Given the description of an element on the screen output the (x, y) to click on. 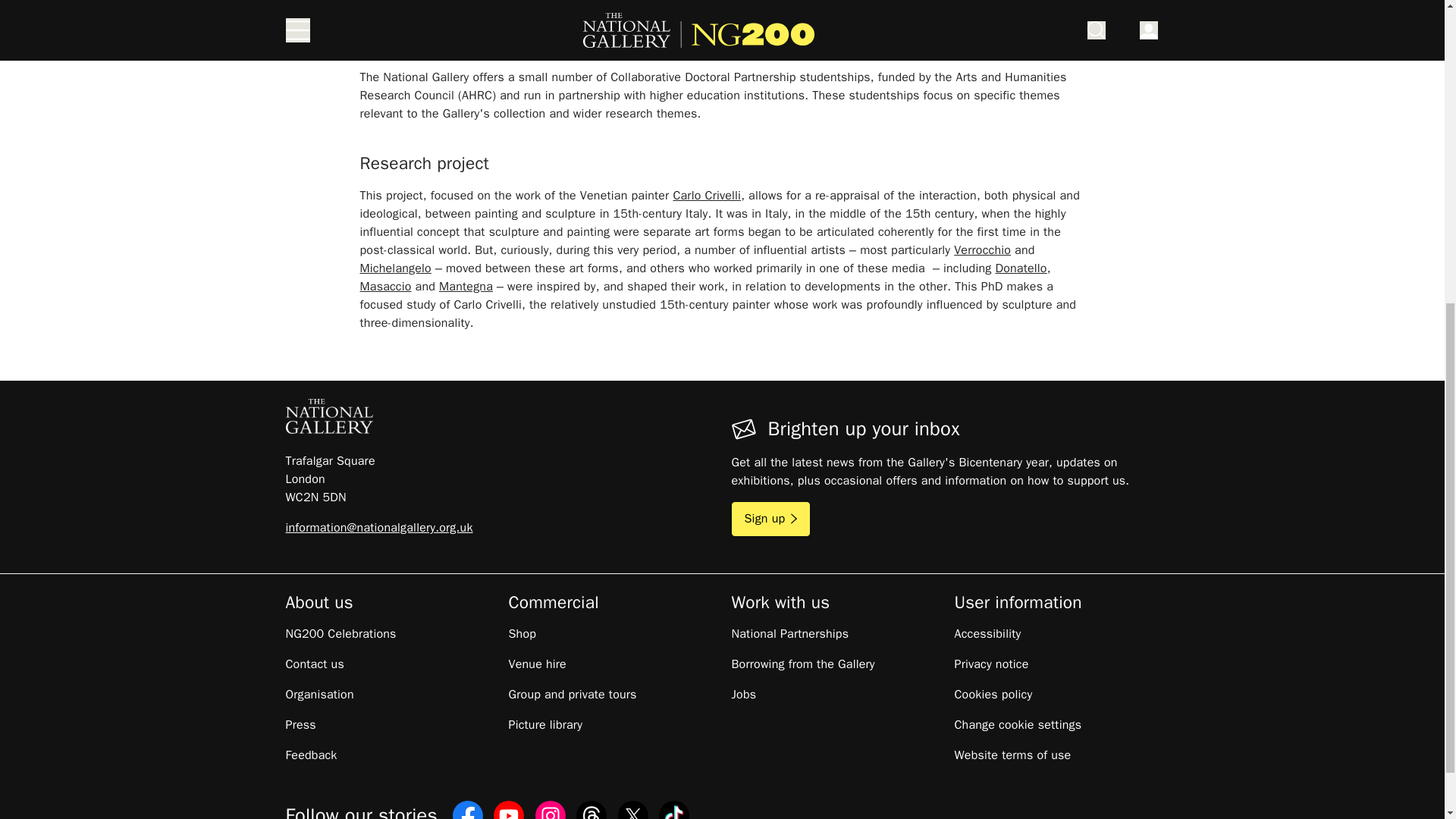
Andrea Mantegna (466, 286)
Masaccio (384, 286)
Donatello (1020, 268)
Carlo Crivelli (706, 195)
Andrea del Verrocchio (981, 249)
Michelangelo (394, 268)
